Given the description of an element on the screen output the (x, y) to click on. 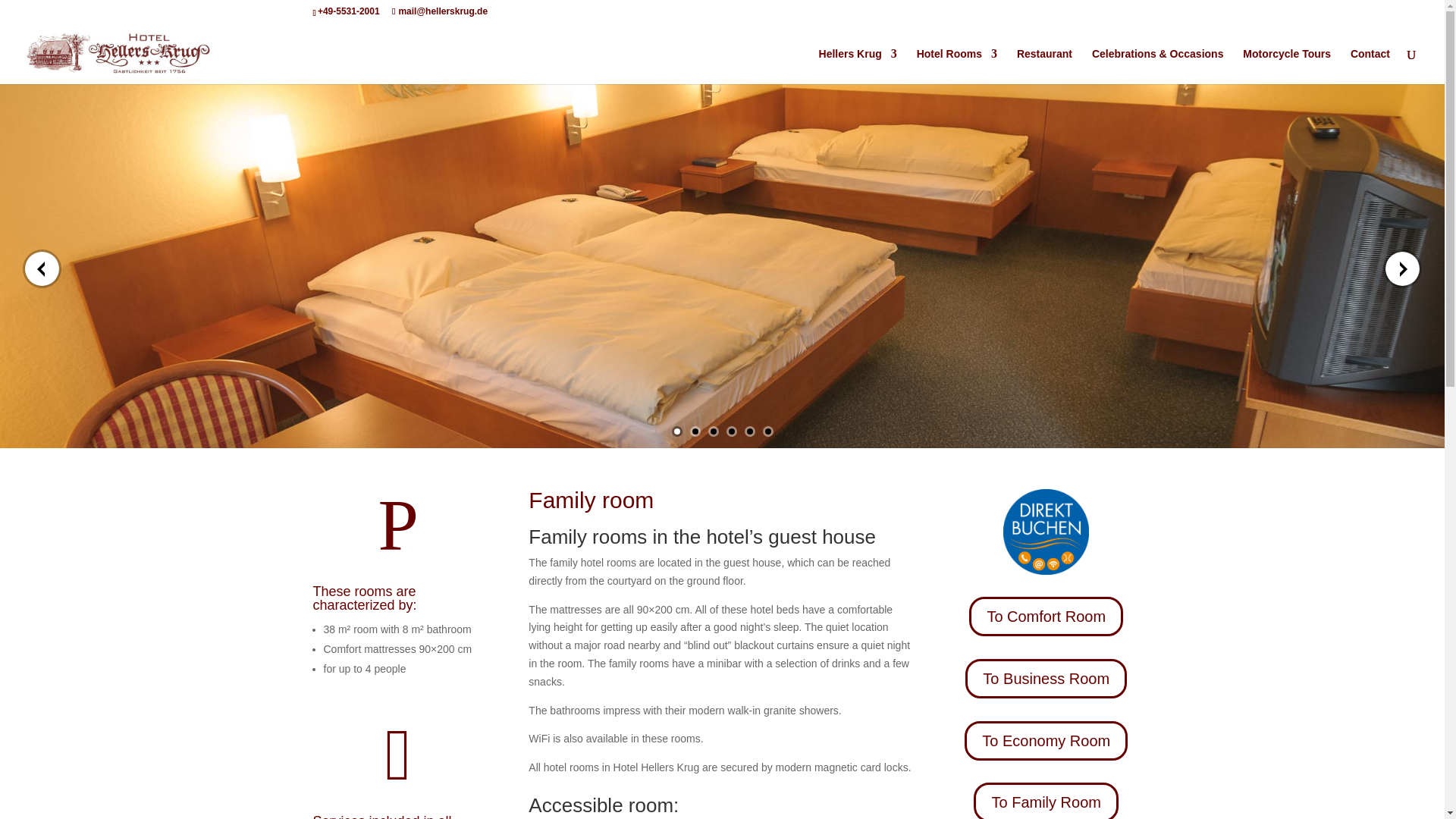
Motorcycle Tours (1286, 66)
To Comfort Room (1045, 616)
Hotel Rooms (957, 66)
Hellers Krug (857, 66)
Contact (1370, 66)
Restaurant (1043, 66)
To Business Room (1045, 678)
To Economy Room (1044, 740)
